Given the description of an element on the screen output the (x, y) to click on. 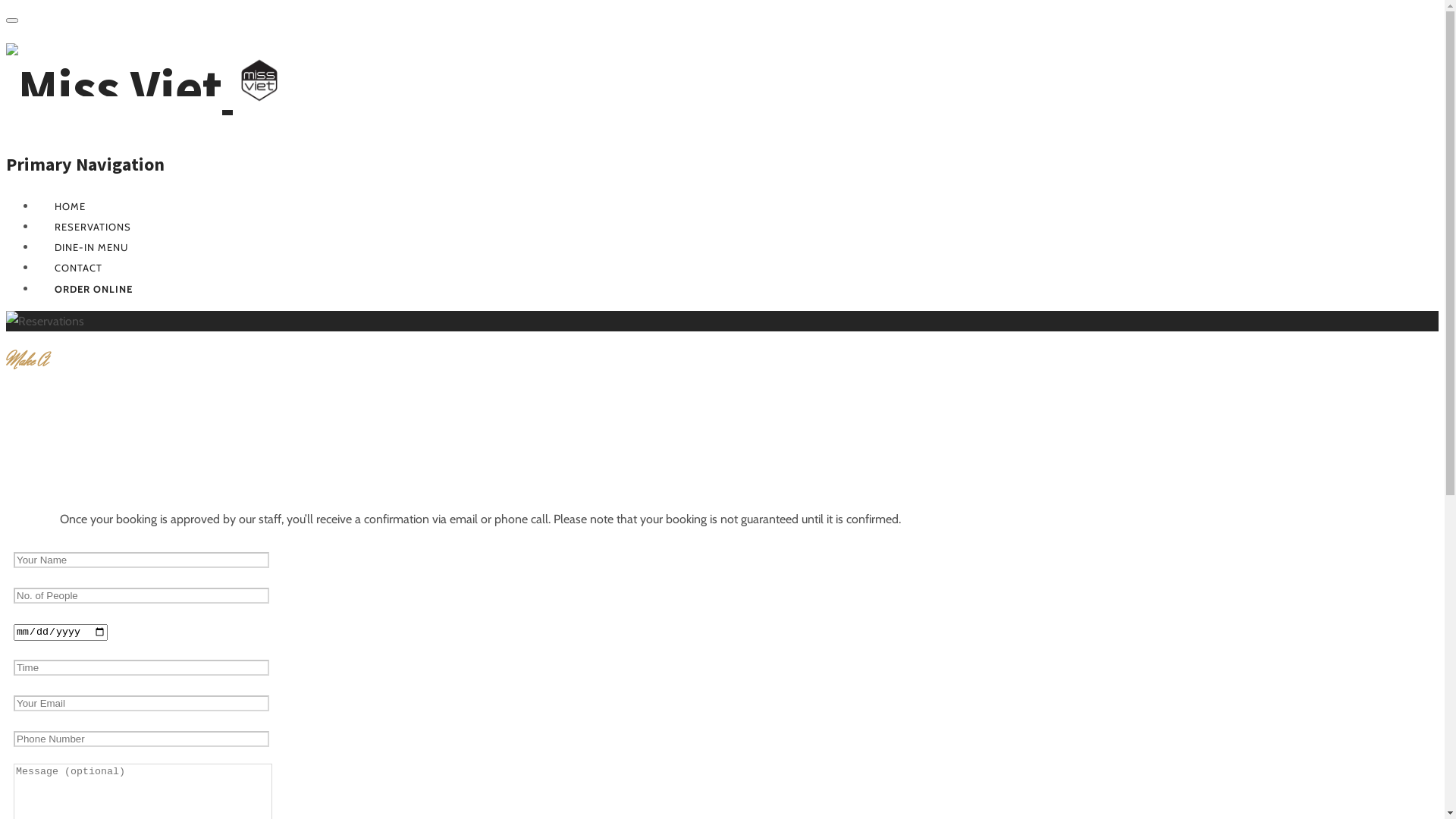
Miss Viet Element type: hover (145, 87)
ORDER ONLINE Element type: text (93, 288)
RESERVATIONS Element type: text (92, 226)
HOME Element type: text (69, 206)
CONTACT Element type: text (78, 267)
DINE-IN MENU Element type: text (91, 247)
